Given the description of an element on the screen output the (x, y) to click on. 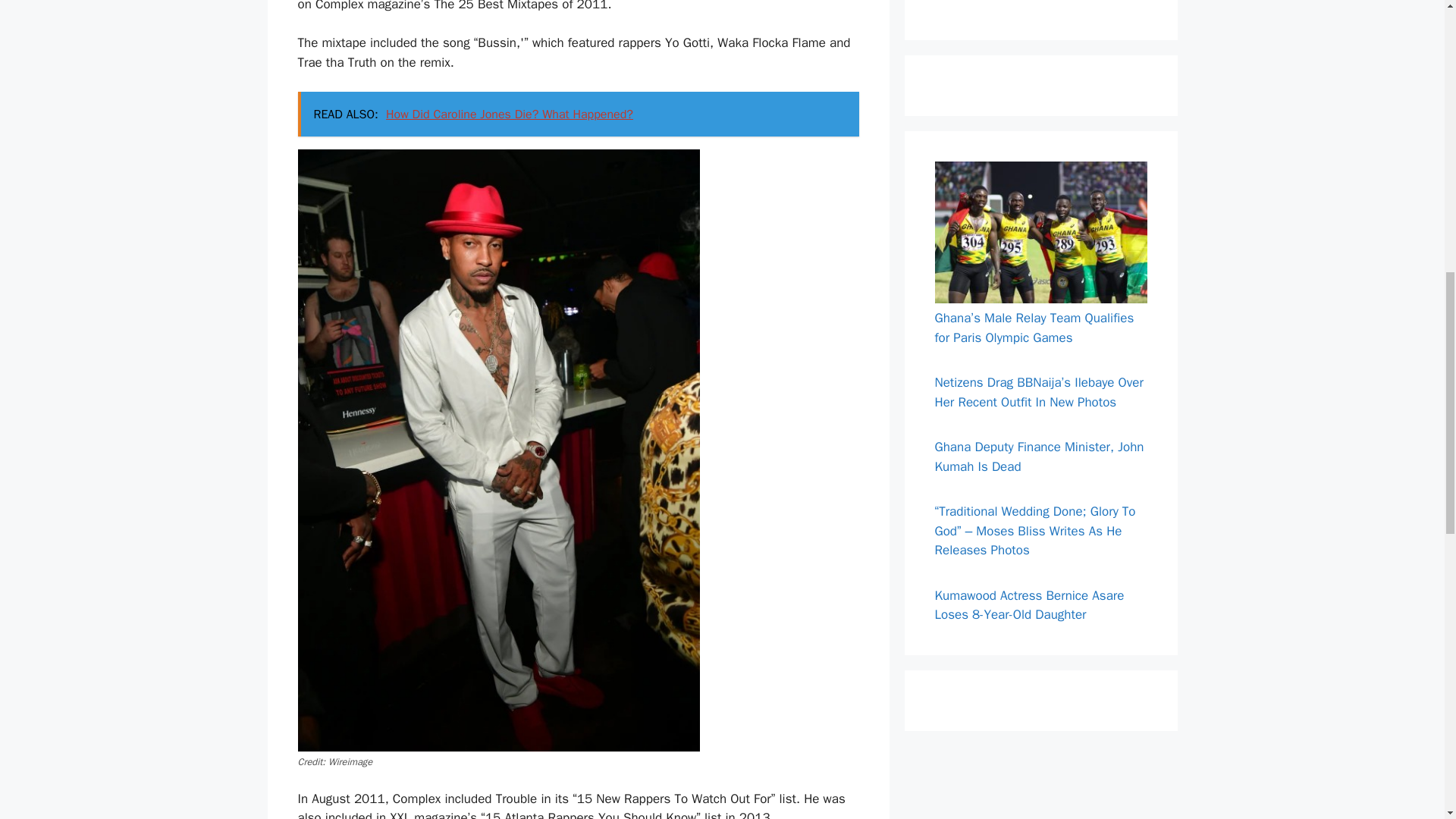
READ ALSO:  How Did Caroline Jones Die? What Happened? (578, 114)
Ghana Deputy Finance Minister, John Kumah Is Dead (1038, 456)
Kumawood Actress Bernice Asare Loses 8-Year-Old Daughter (1029, 605)
